Given the description of an element on the screen output the (x, y) to click on. 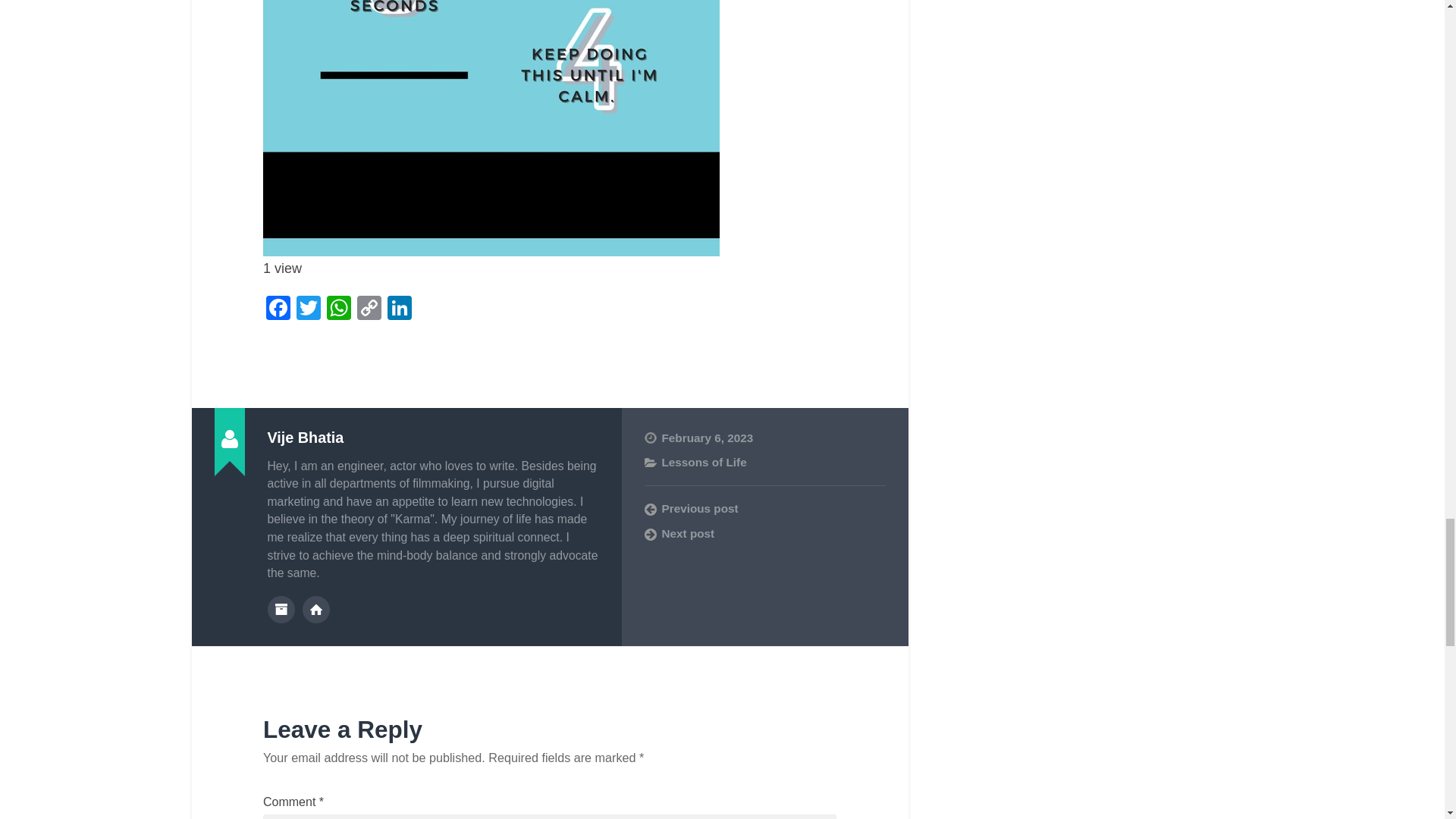
Previous post (765, 508)
Facebook (278, 309)
WhatsApp (338, 309)
Twitter (308, 309)
LinkedIn (399, 309)
LinkedIn (399, 309)
Author archive (280, 609)
Next post (765, 533)
Author website (316, 609)
Twitter (308, 309)
